Given the description of an element on the screen output the (x, y) to click on. 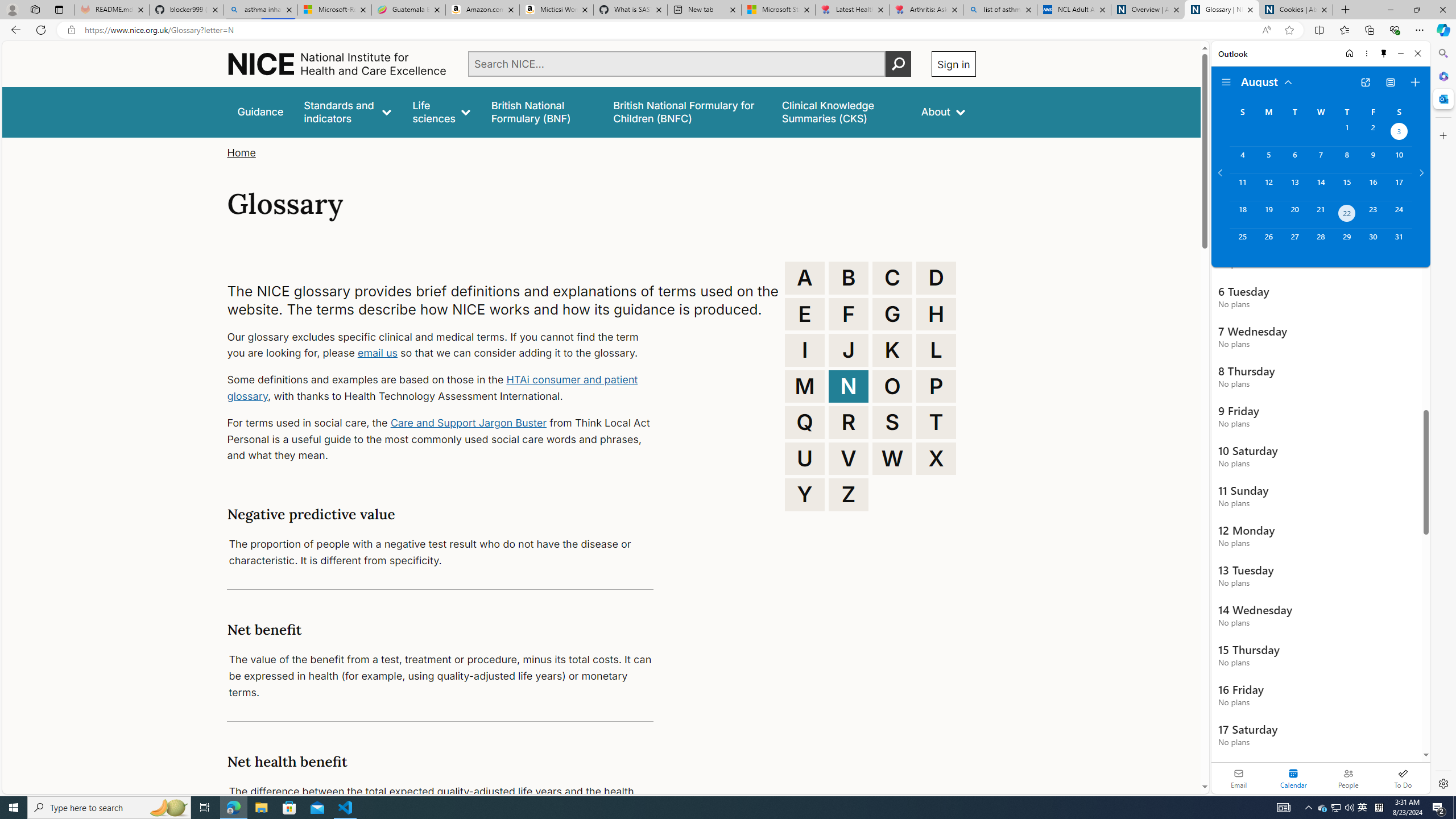
Selected calendar module. Date today is 22 (1293, 777)
New Tab (1346, 9)
G (892, 313)
Q (804, 422)
L (935, 350)
Tuesday, August 13, 2024.  (1294, 186)
O (892, 385)
Arthritis: Ask Health Professionals (925, 9)
To Do (1402, 777)
Open in new tab (1365, 82)
